Given the description of an element on the screen output the (x, y) to click on. 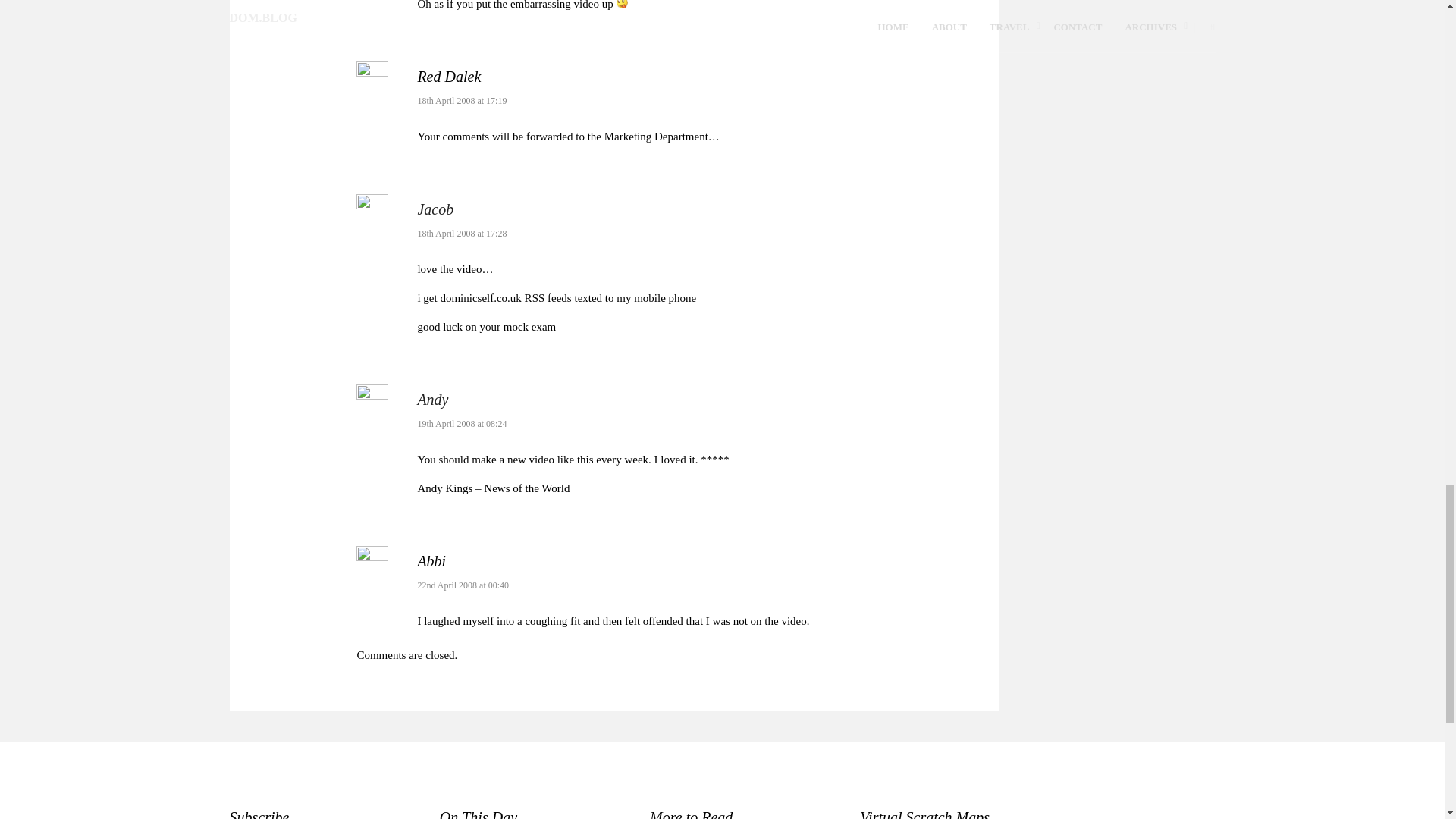
18th April 2008 at 17:19 (461, 100)
19th April 2008 at 08:24 (461, 423)
22nd April 2008 at 00:40 (462, 584)
18th April 2008 at 17:28 (461, 233)
Abbi (430, 560)
Red Dalek (448, 76)
